Given the description of an element on the screen output the (x, y) to click on. 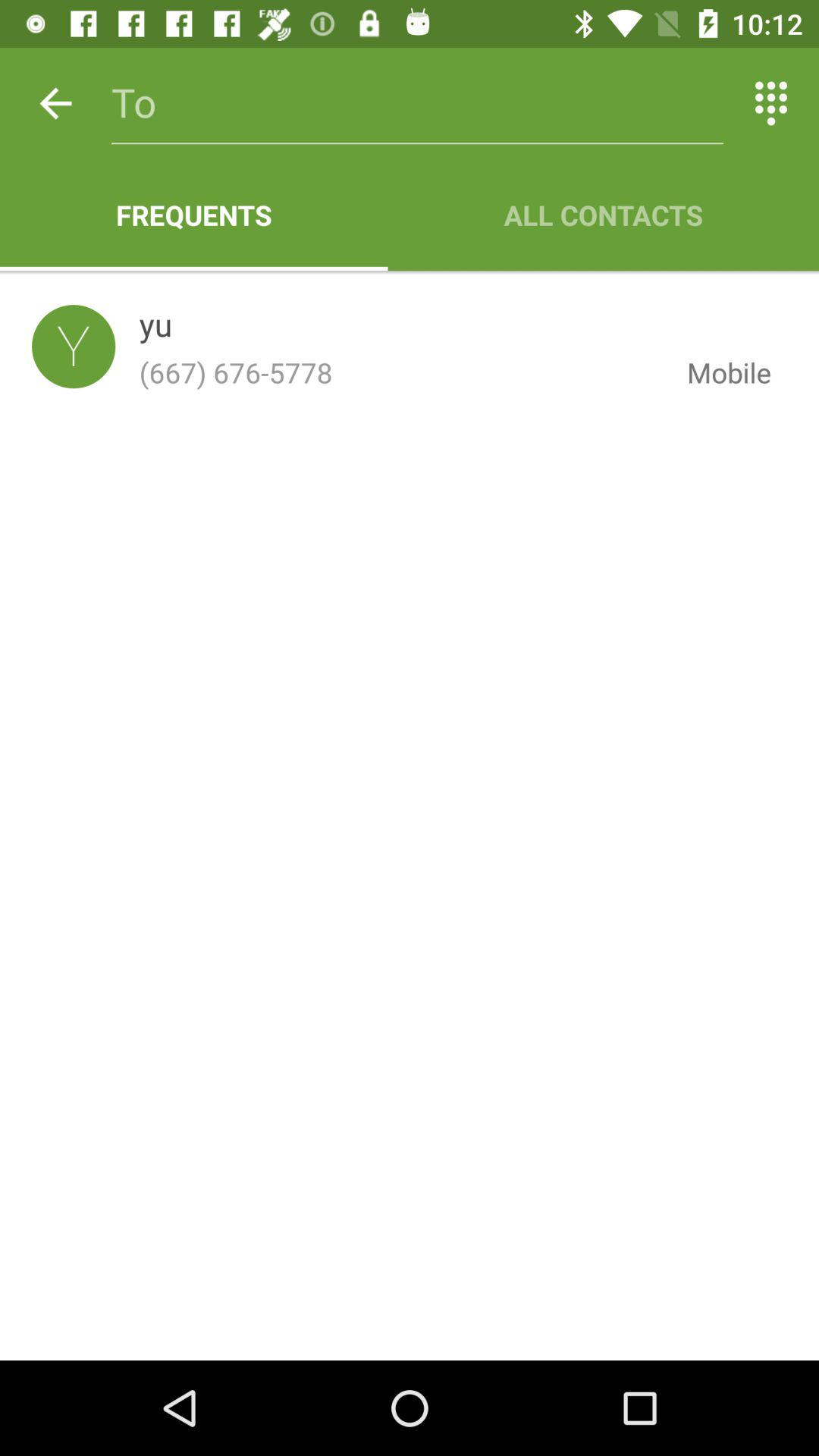
press (667) 676-5778 item (401, 372)
